Given the description of an element on the screen output the (x, y) to click on. 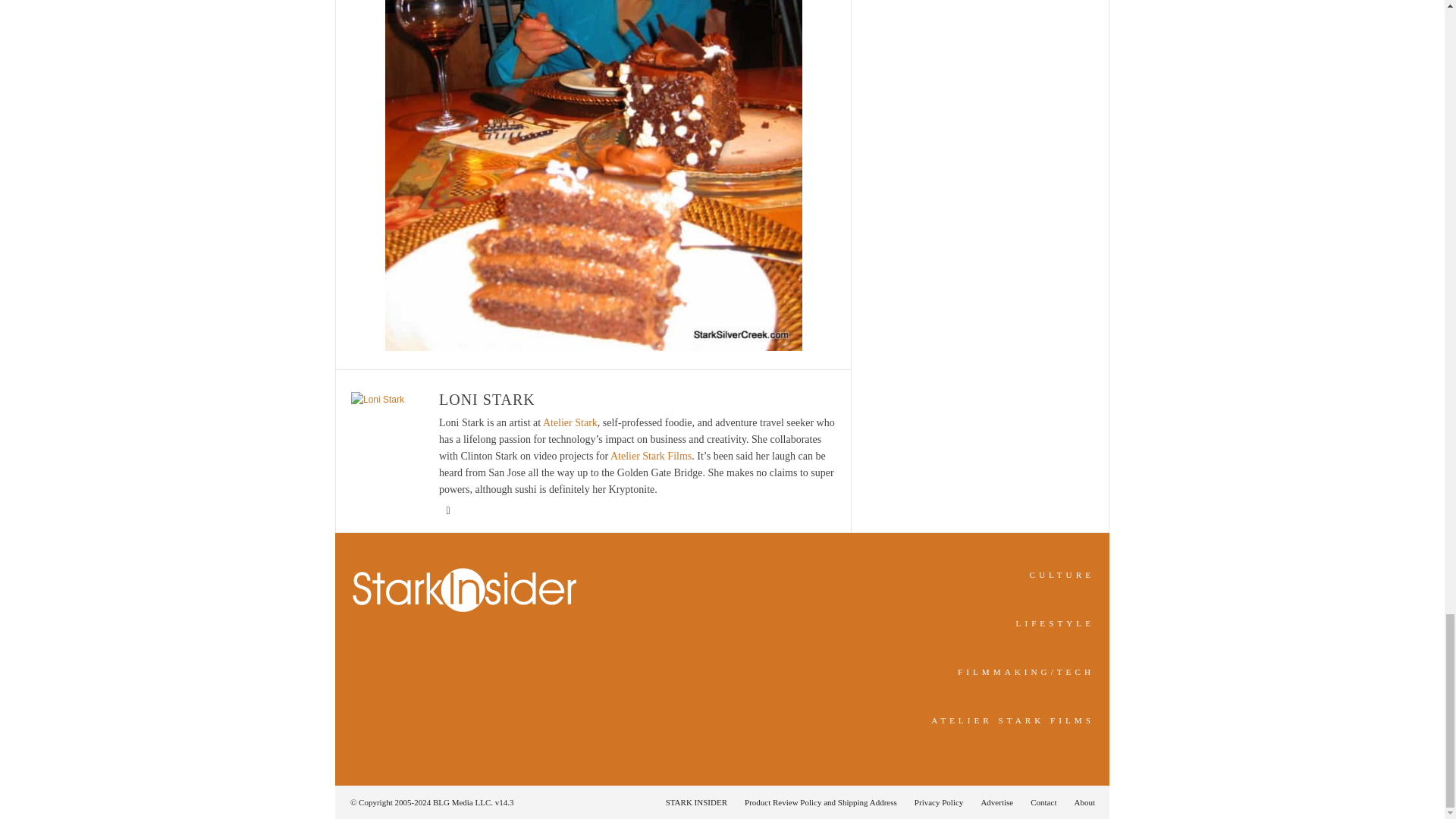
Advertise (996, 801)
LIFESTYLE (1055, 623)
STARK INSIDER (696, 801)
Product Review Policy and Shipping Address (820, 801)
LONI STARK (487, 399)
Atelier Stark (569, 422)
Atelier Stark Films (650, 455)
Contact (1043, 801)
Privacy Policy (939, 801)
About (1079, 801)
